Given the description of an element on the screen output the (x, y) to click on. 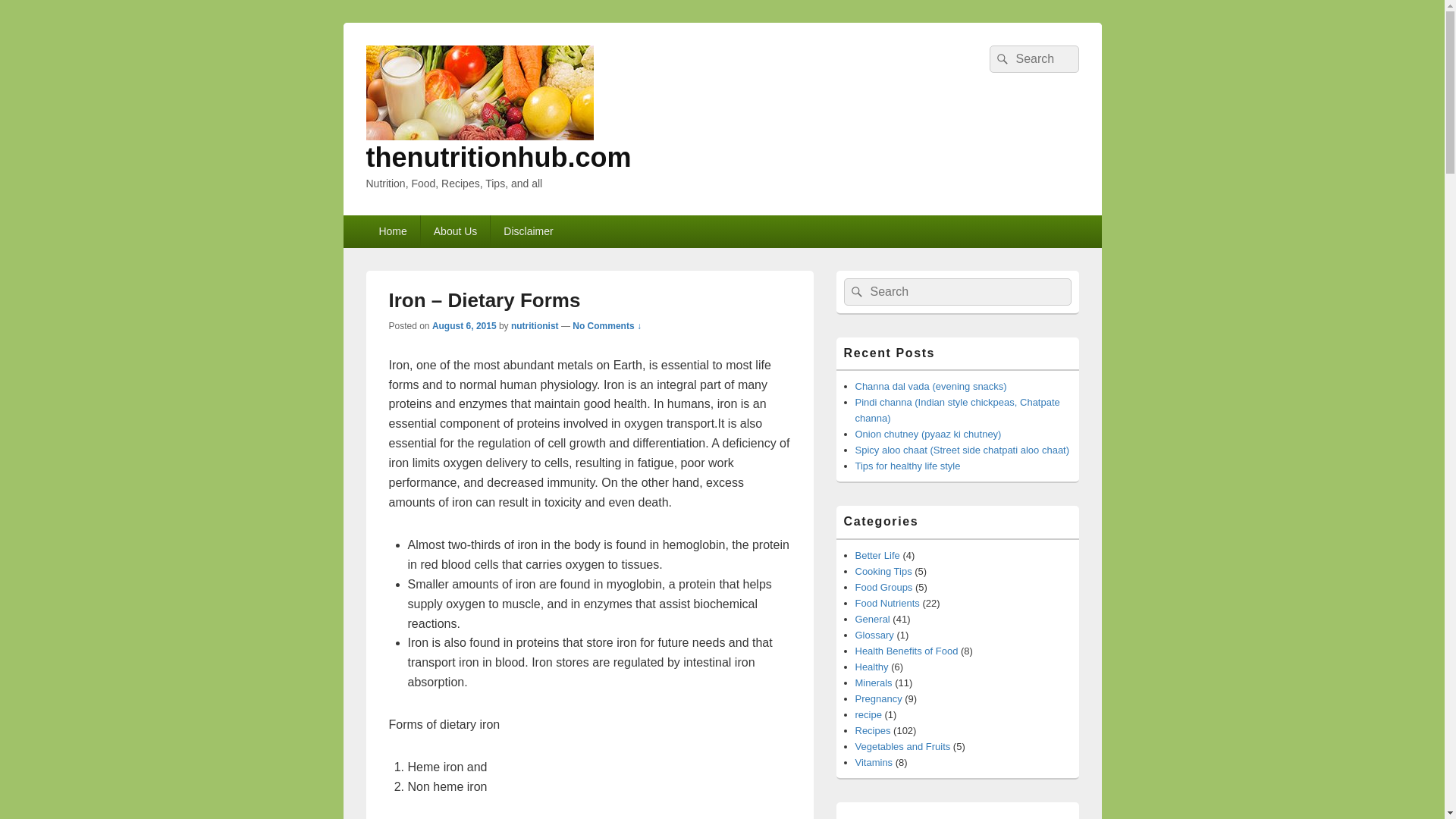
Vegetables and Fruits (903, 746)
Cooking Tips (884, 571)
Home (392, 231)
About Us (455, 231)
Glossary (874, 634)
General (872, 618)
Tips for healthy life style (908, 465)
View all posts by nutritionist (535, 326)
Vitamins (874, 762)
August 6, 2015 (464, 326)
Better Life (877, 555)
Advertisement (956, 814)
Recipes (873, 730)
Healthy (872, 666)
Food Nutrients (888, 603)
